Given the description of an element on the screen output the (x, y) to click on. 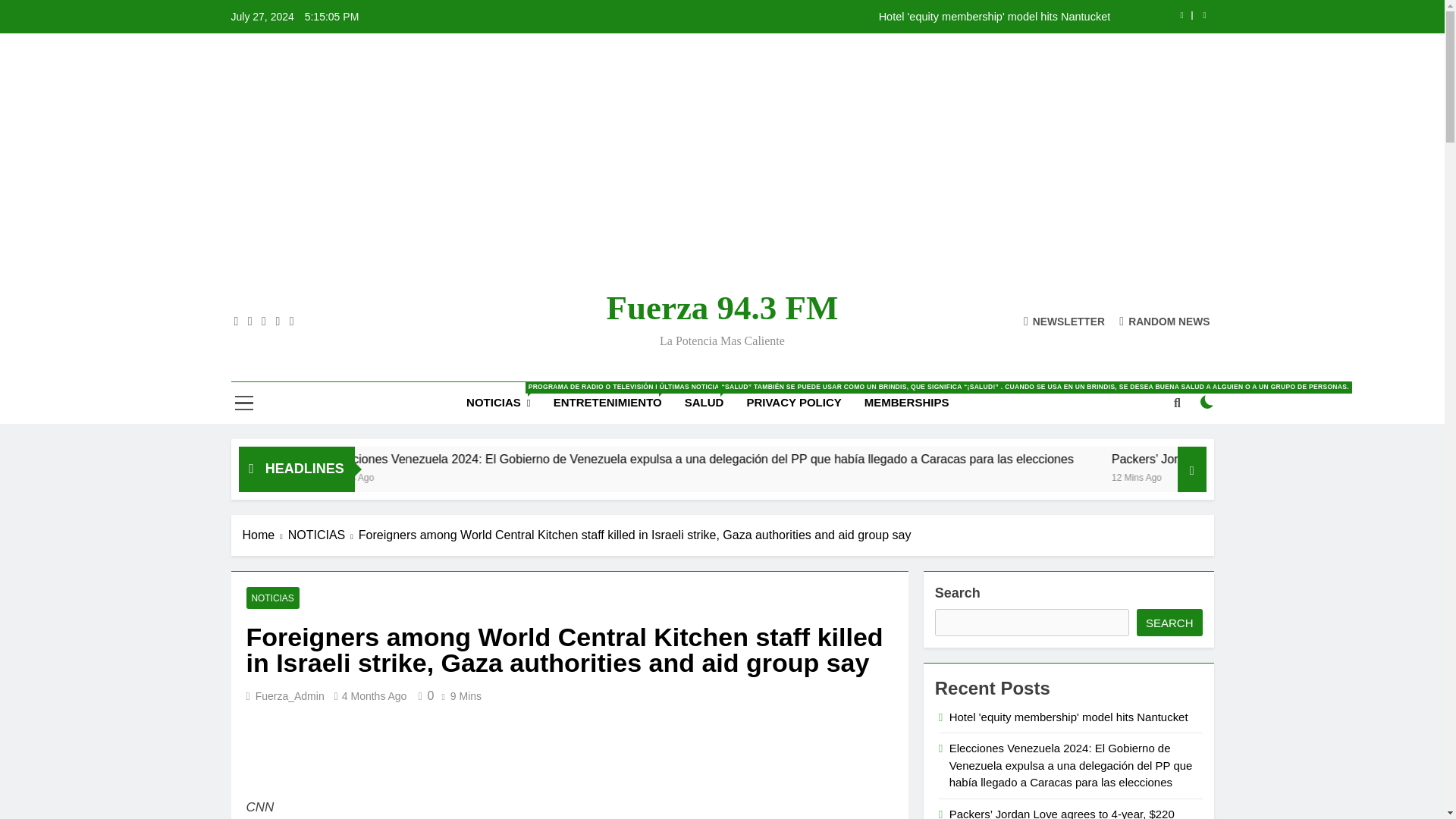
MEMBERSHIPS (906, 402)
Fuerza 94.3 FM (721, 307)
6 Mins Ago (573, 476)
RANDOM NEWS (1164, 319)
PRIVACY POLICY (793, 402)
Hotel 'equity membership' model hits Nantucket (394, 459)
on (1206, 401)
Hotel 'equity membership' model hits Nantucket (349, 459)
NEWSLETTER (1064, 319)
Hotel 'equity membership' model hits Nantucket (817, 16)
Hotel 'equity membership' model hits Nantucket (817, 16)
